Given the description of an element on the screen output the (x, y) to click on. 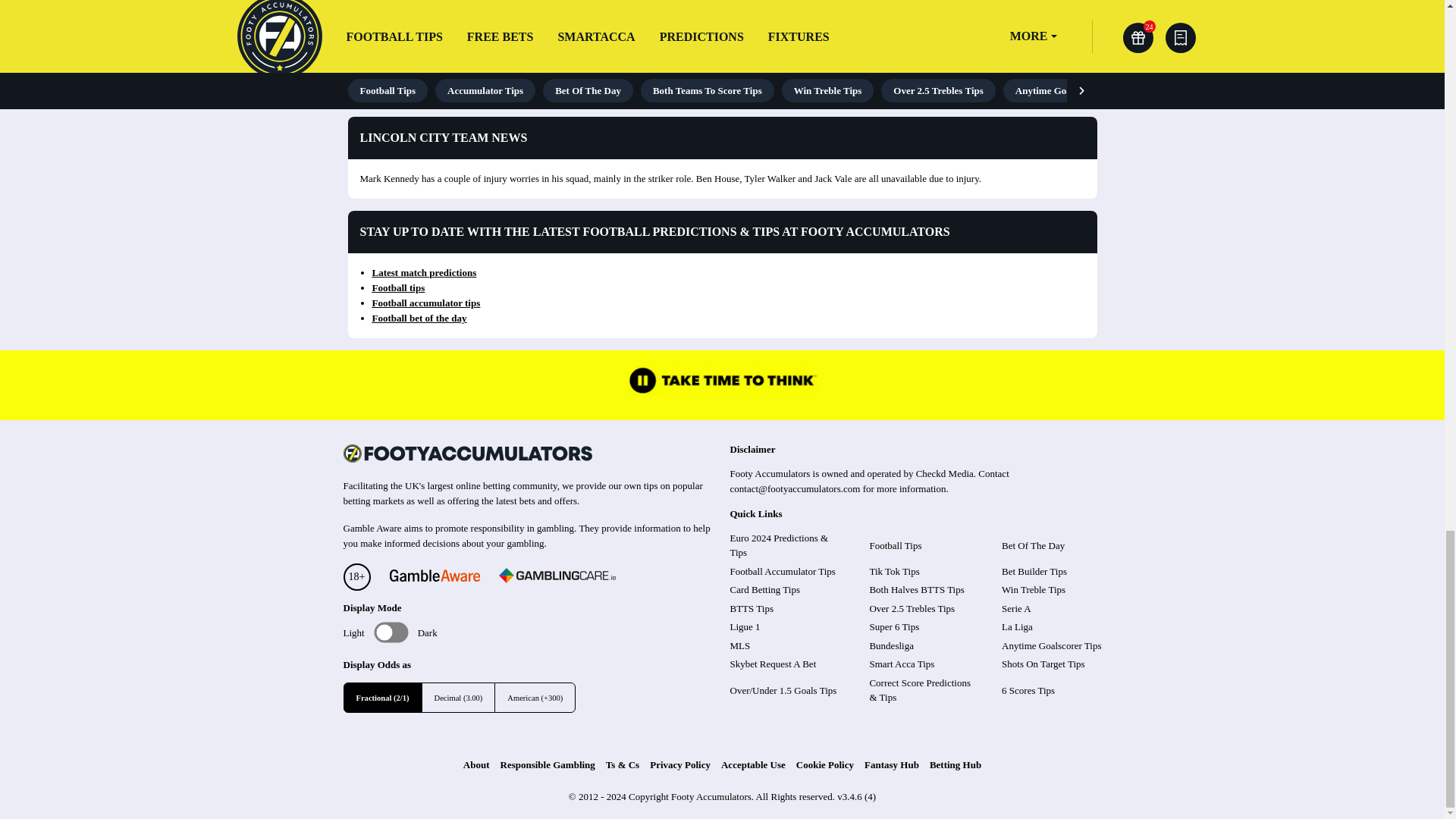
Take time to think campaign link (721, 391)
GamblingCare.ie (557, 578)
Be gamble aware campaign (433, 577)
